Given the description of an element on the screen output the (x, y) to click on. 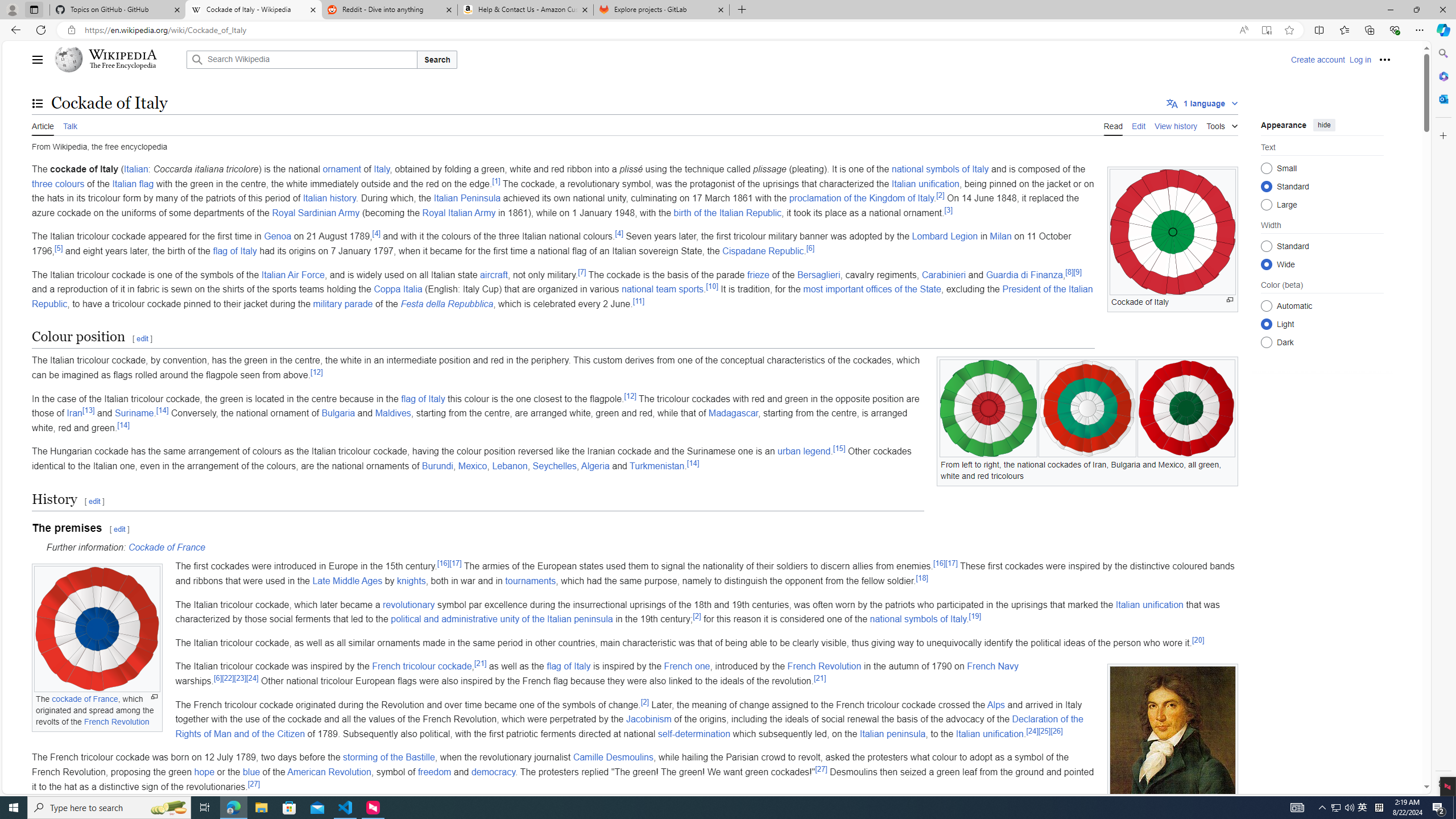
View history (1176, 124)
[17] (951, 563)
Dark (1266, 341)
[5] (58, 247)
most important offices of the State (871, 289)
Standard (1266, 245)
storming of the Bastille (388, 757)
Refresh (40, 29)
Wikipedia The Free Encyclopedia (117, 59)
Turkmenistan (656, 466)
Customize (1442, 135)
Coppa Italia (398, 289)
American Revolution (328, 771)
Browser essentials (1394, 29)
